Given the description of an element on the screen output the (x, y) to click on. 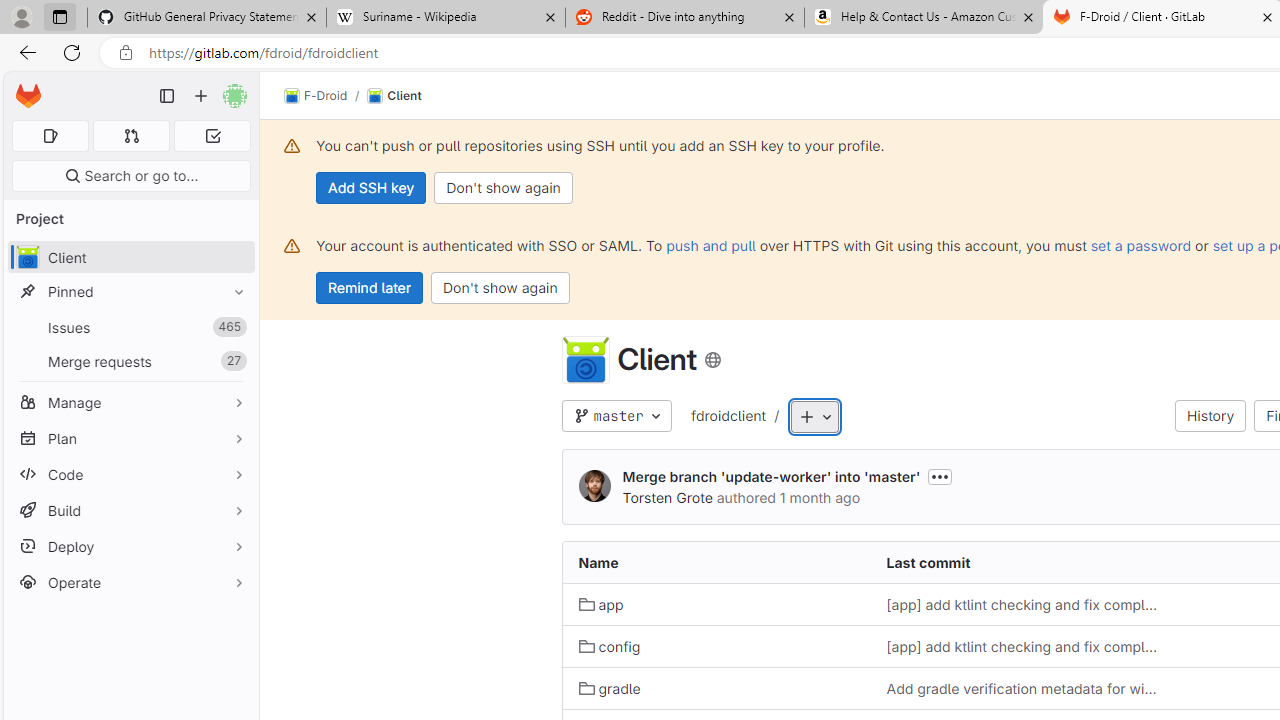
fdroidclient (727, 415)
avatar Client (130, 257)
Unpin Merge requests (234, 361)
Name (715, 562)
gradle (609, 688)
avatar (27, 257)
Issues465 (130, 327)
Last commit (1024, 562)
config (715, 646)
Unpin Issues (234, 327)
Issues 465 (130, 327)
Client (585, 359)
Suriname - Wikipedia (445, 17)
